Given the description of an element on the screen output the (x, y) to click on. 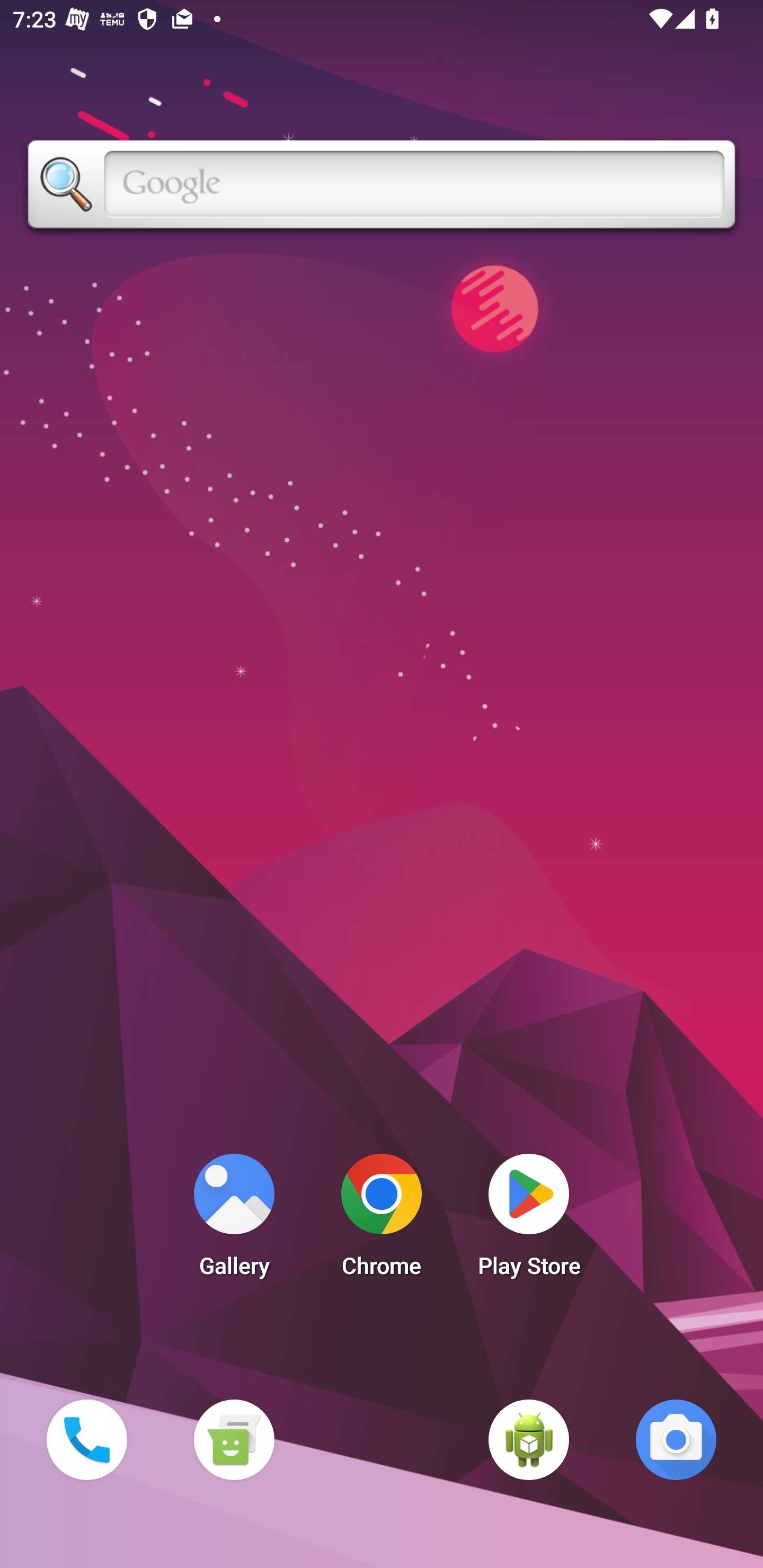
Gallery (233, 1220)
Chrome (381, 1220)
Play Store (528, 1220)
Phone (86, 1439)
Messaging (233, 1439)
WebView Browser Tester (528, 1439)
Camera (676, 1439)
